Given the description of an element on the screen output the (x, y) to click on. 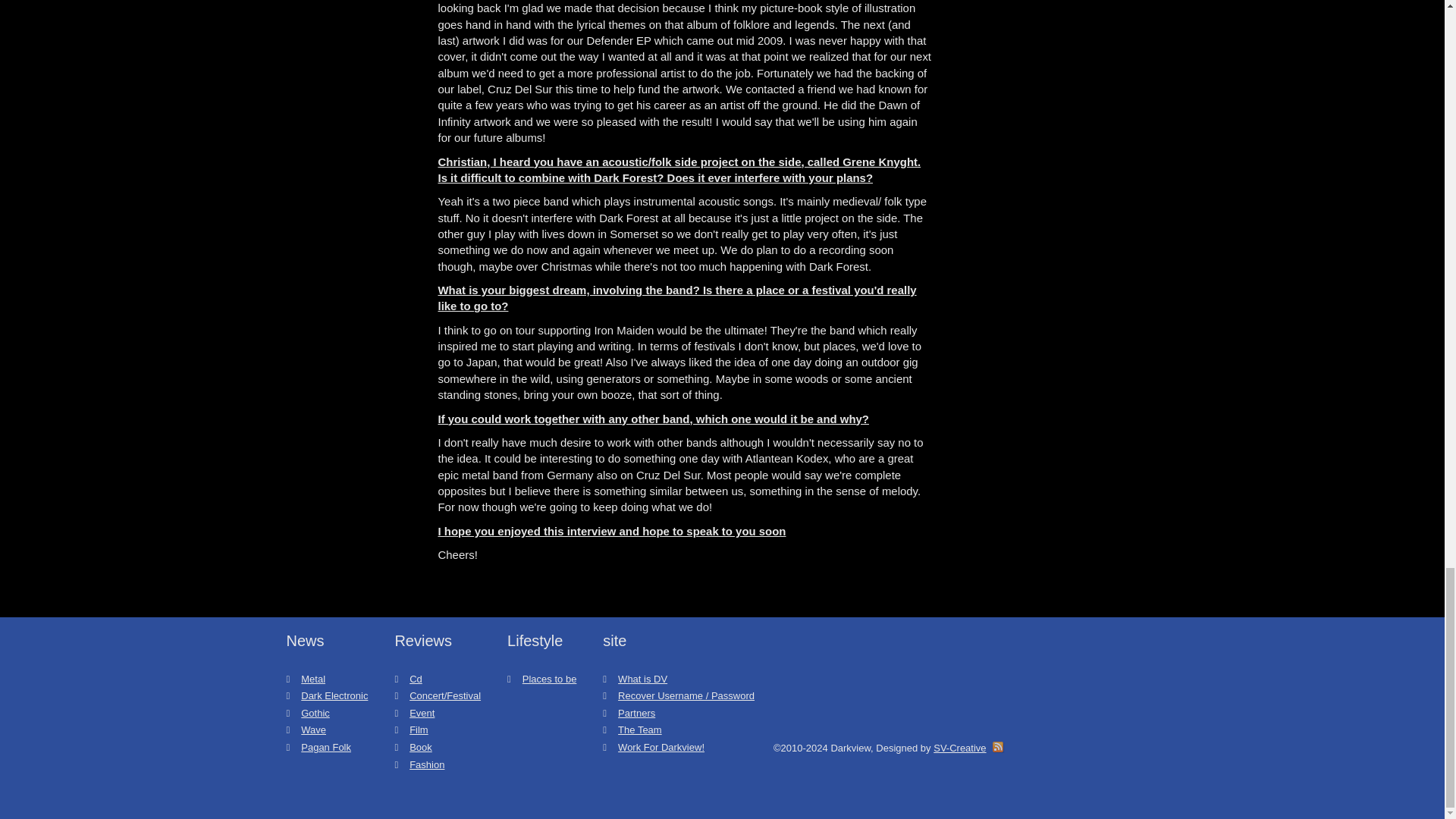
Metal (312, 678)
Wave (313, 729)
Film (418, 729)
Dark Electronic (333, 695)
Gothic (314, 713)
Book (420, 747)
Cd (415, 678)
Pagan Folk (325, 747)
Event (421, 713)
